Given the description of an element on the screen output the (x, y) to click on. 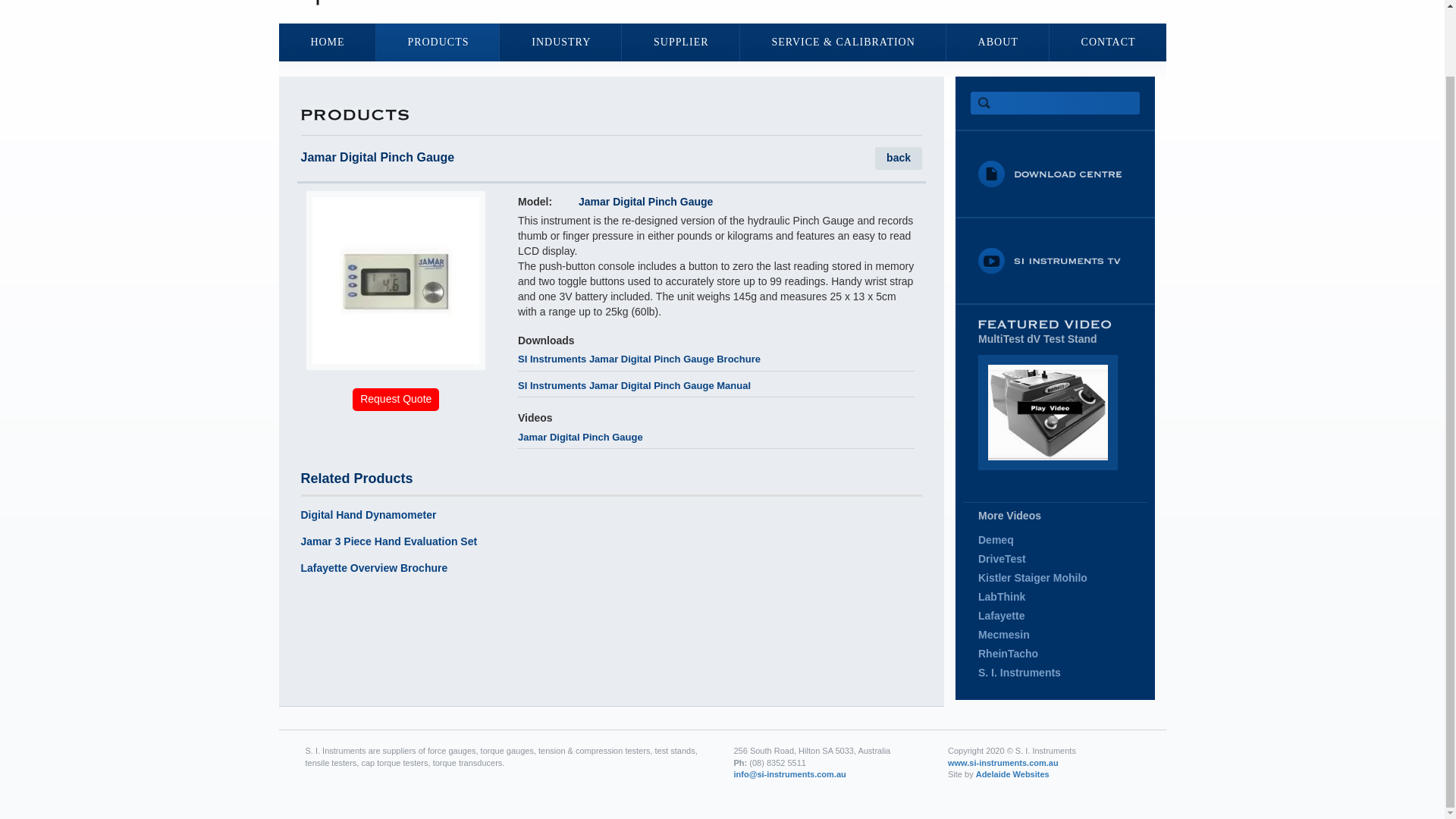
Search (983, 102)
Go back to previous page (898, 158)
An Alltraders Pty Ltd Brand (1012, 773)
INDUSTRY (560, 42)
PRODUCTS (437, 42)
Request Quote (395, 399)
HOME (327, 42)
back (898, 158)
MultiTest dV Test Stand (1048, 410)
SUPPLIER (679, 42)
